Given the description of an element on the screen output the (x, y) to click on. 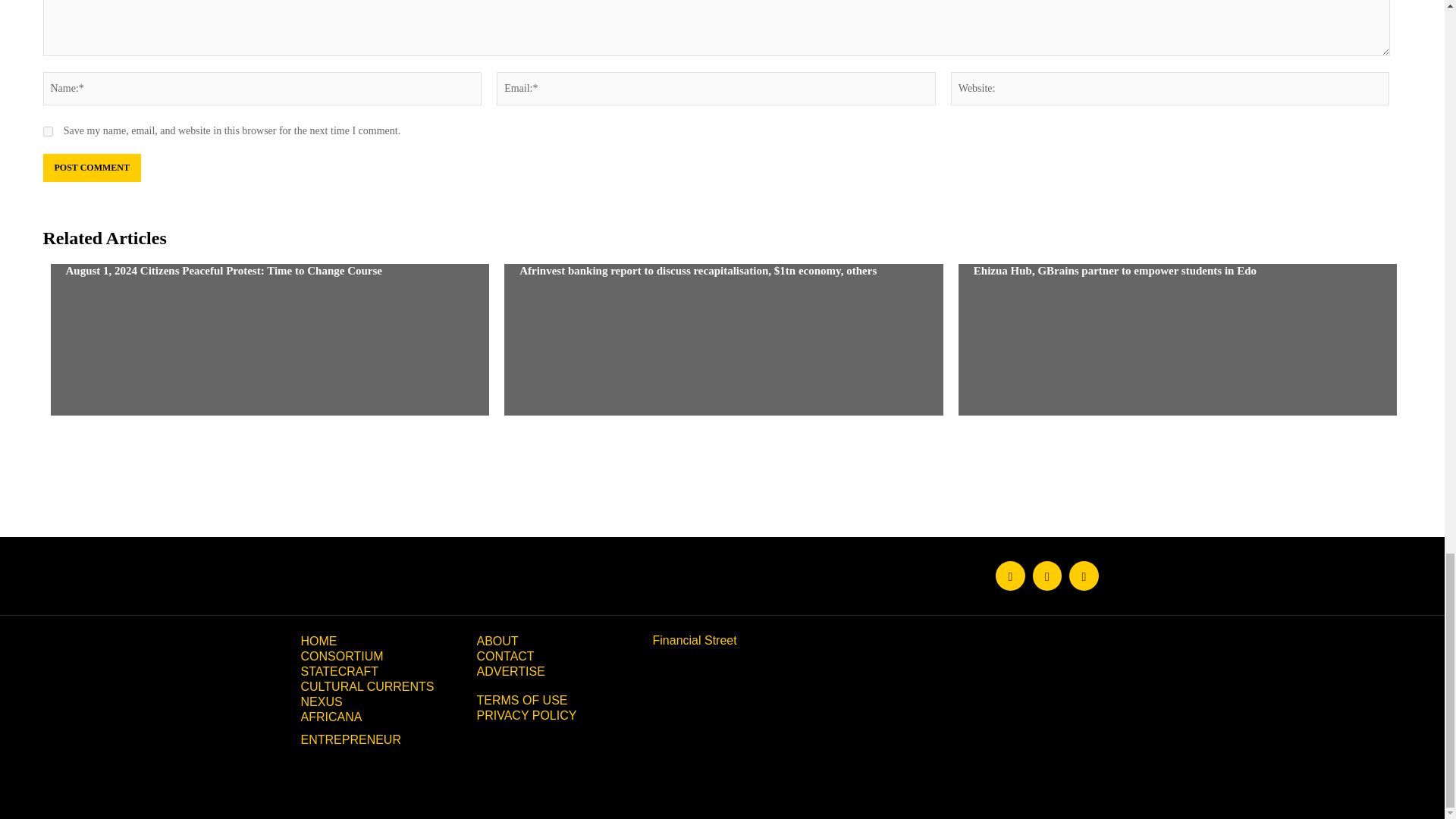
Post Comment (90, 167)
yes (47, 131)
